Given the description of an element on the screen output the (x, y) to click on. 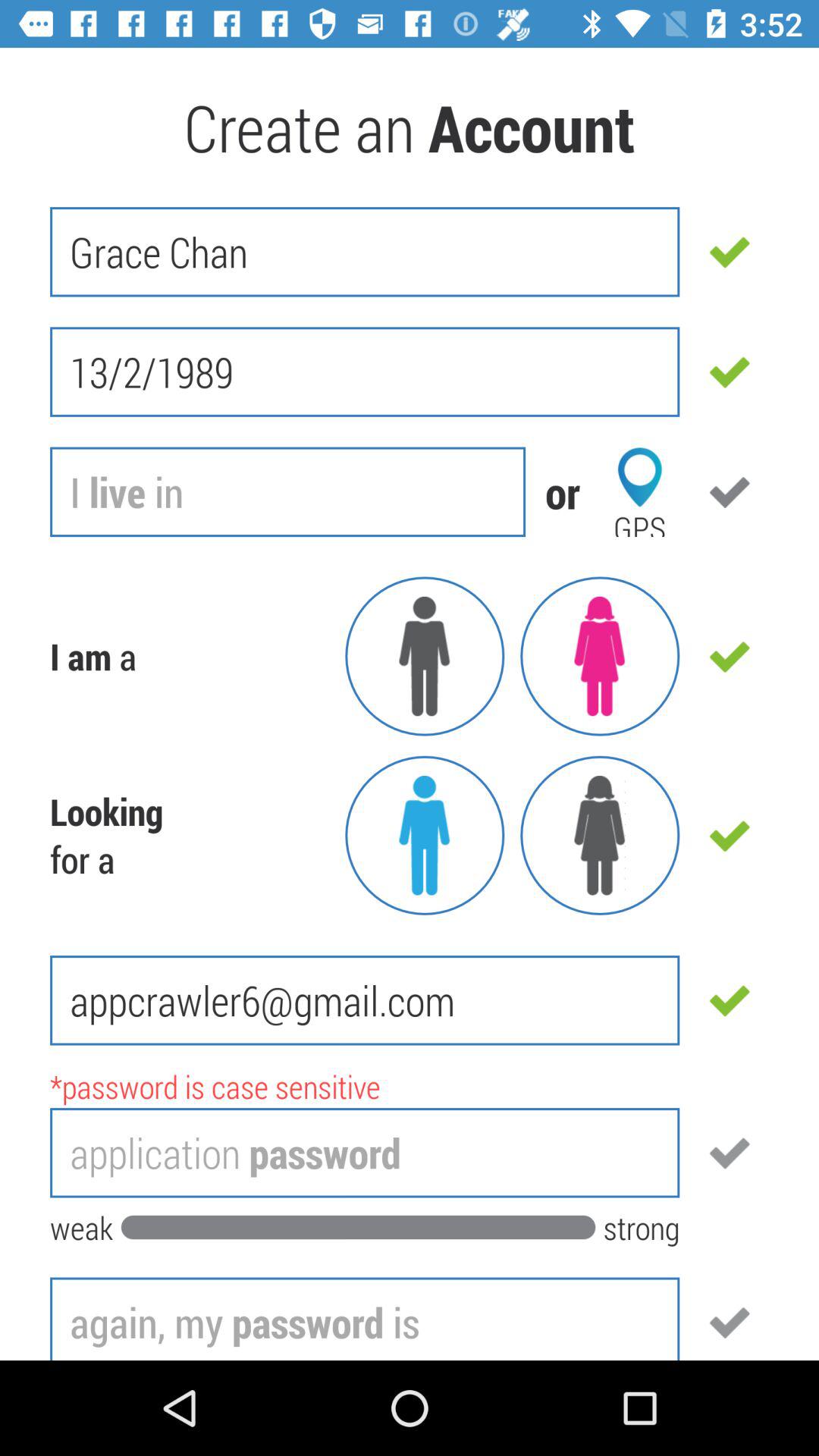
tap the icon above the password is case item (364, 1000)
